Given the description of an element on the screen output the (x, y) to click on. 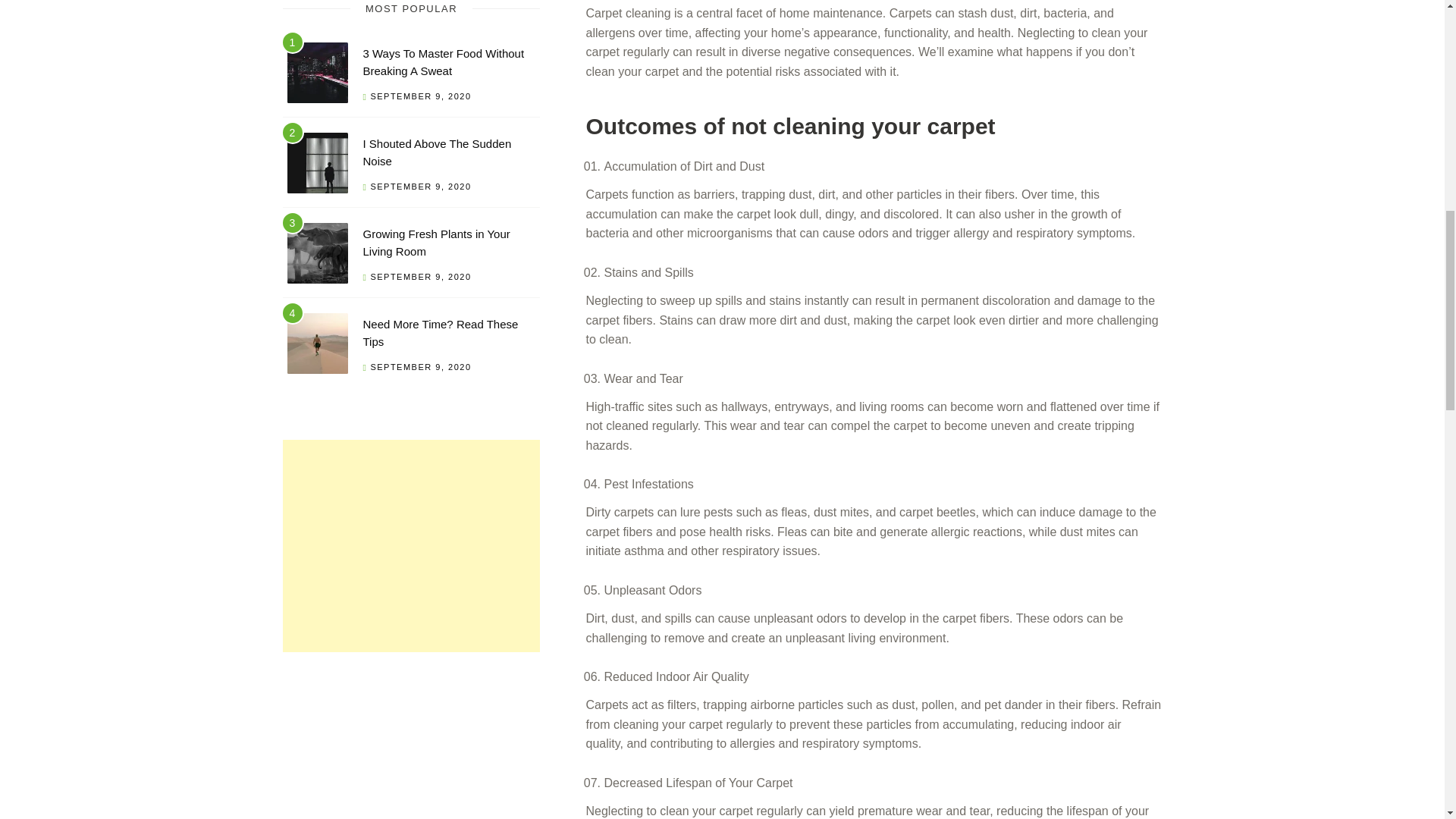
SEPTEMBER 9, 2020 (419, 366)
Advertisement (411, 545)
Permalink to Need More Time? Read These Tips (440, 332)
Permalink to 3 Ways To Master Food Without Breaking A Sweat (443, 61)
Permalink to Need More Time? Read These Tips (316, 345)
I Shouted Above The Sudden Noise (436, 152)
Permalink to 3 Ways To Master Food Without Breaking A Sweat (316, 75)
Permalink to I Shouted Above The Sudden Noise (436, 152)
SEPTEMBER 9, 2020 (419, 185)
3 Ways To Master Food Without Breaking A Sweat (443, 61)
